Given the description of an element on the screen output the (x, y) to click on. 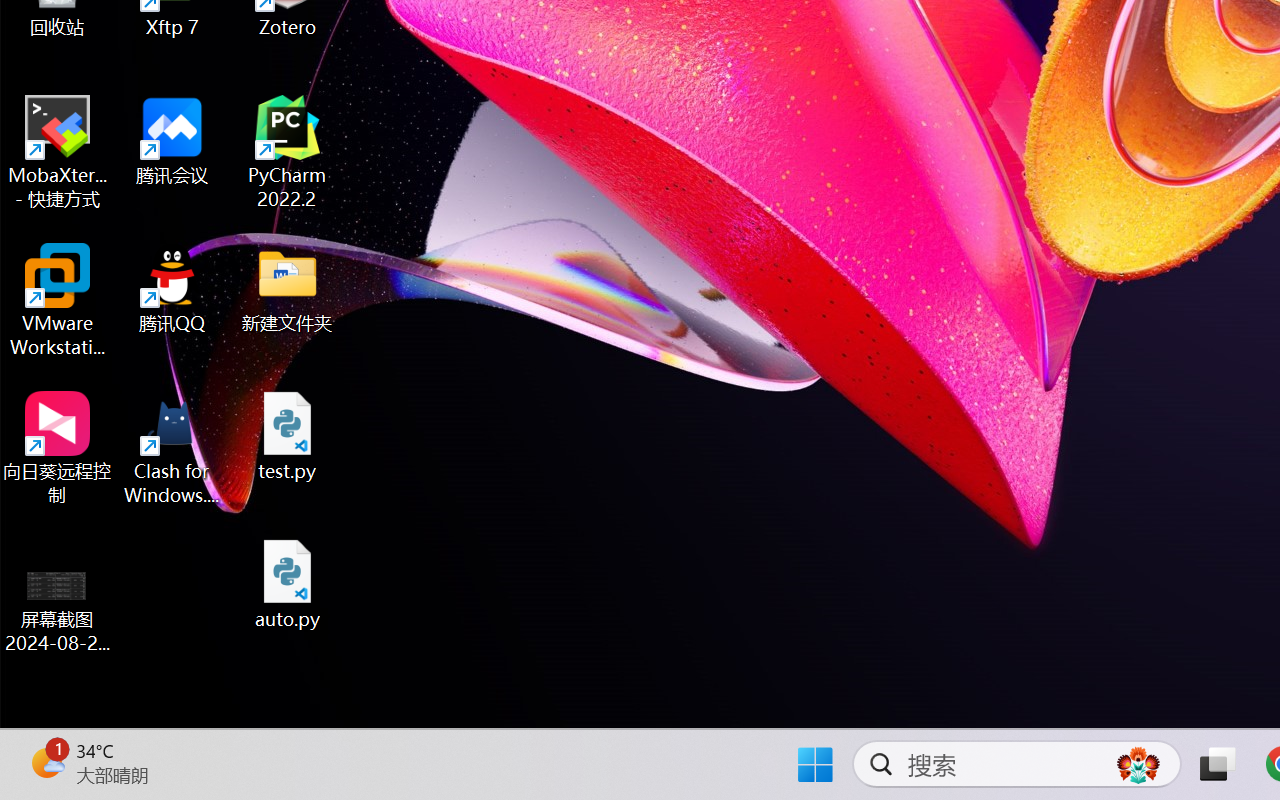
PyCharm 2022.2 (287, 152)
auto.py (287, 584)
test.py (287, 436)
